Given the description of an element on the screen output the (x, y) to click on. 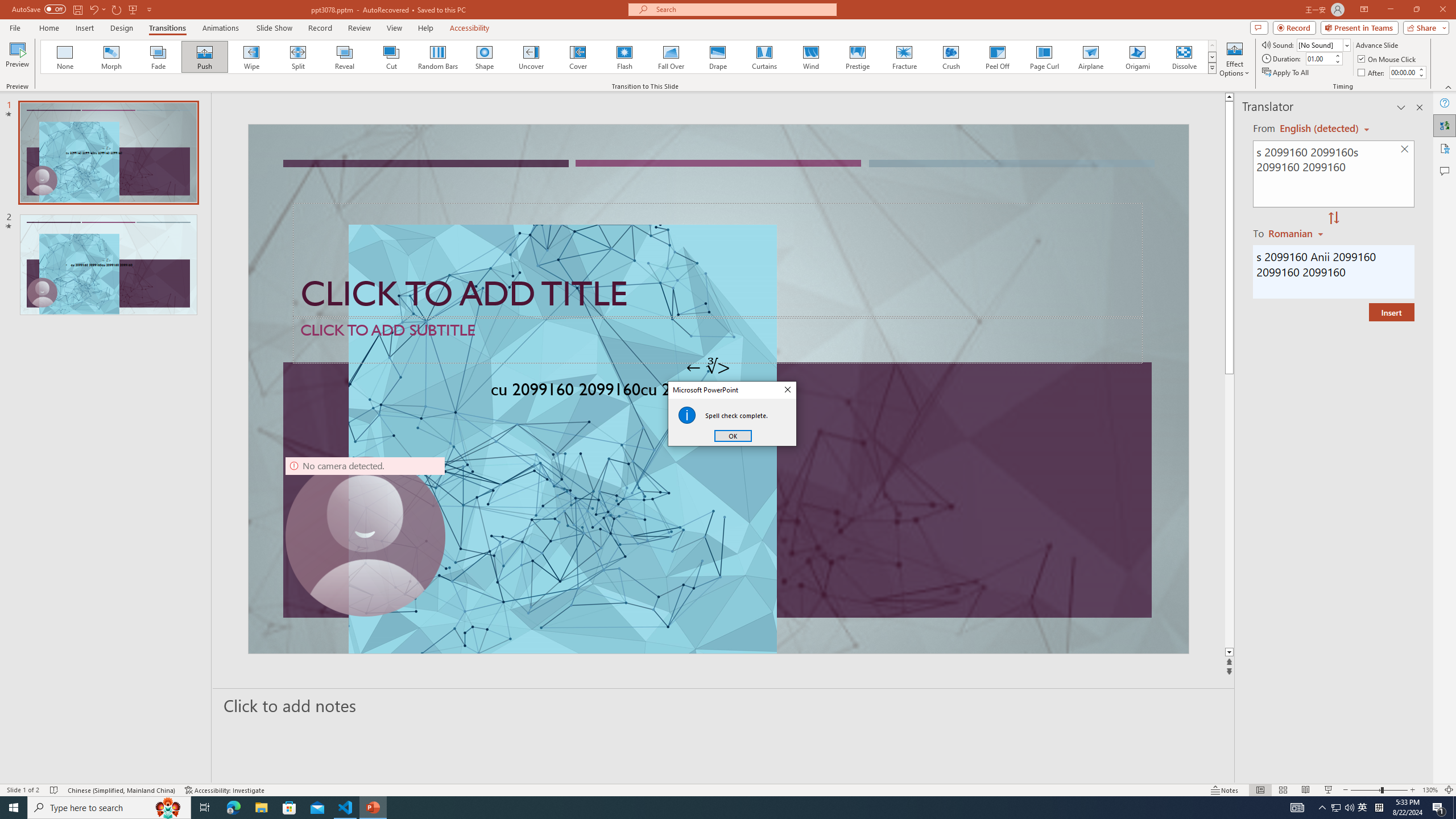
Swap "from" and "to" languages. (1333, 218)
Uncover (531, 56)
Fall Over (670, 56)
Morph (111, 56)
Wipe (251, 56)
